Given the description of an element on the screen output the (x, y) to click on. 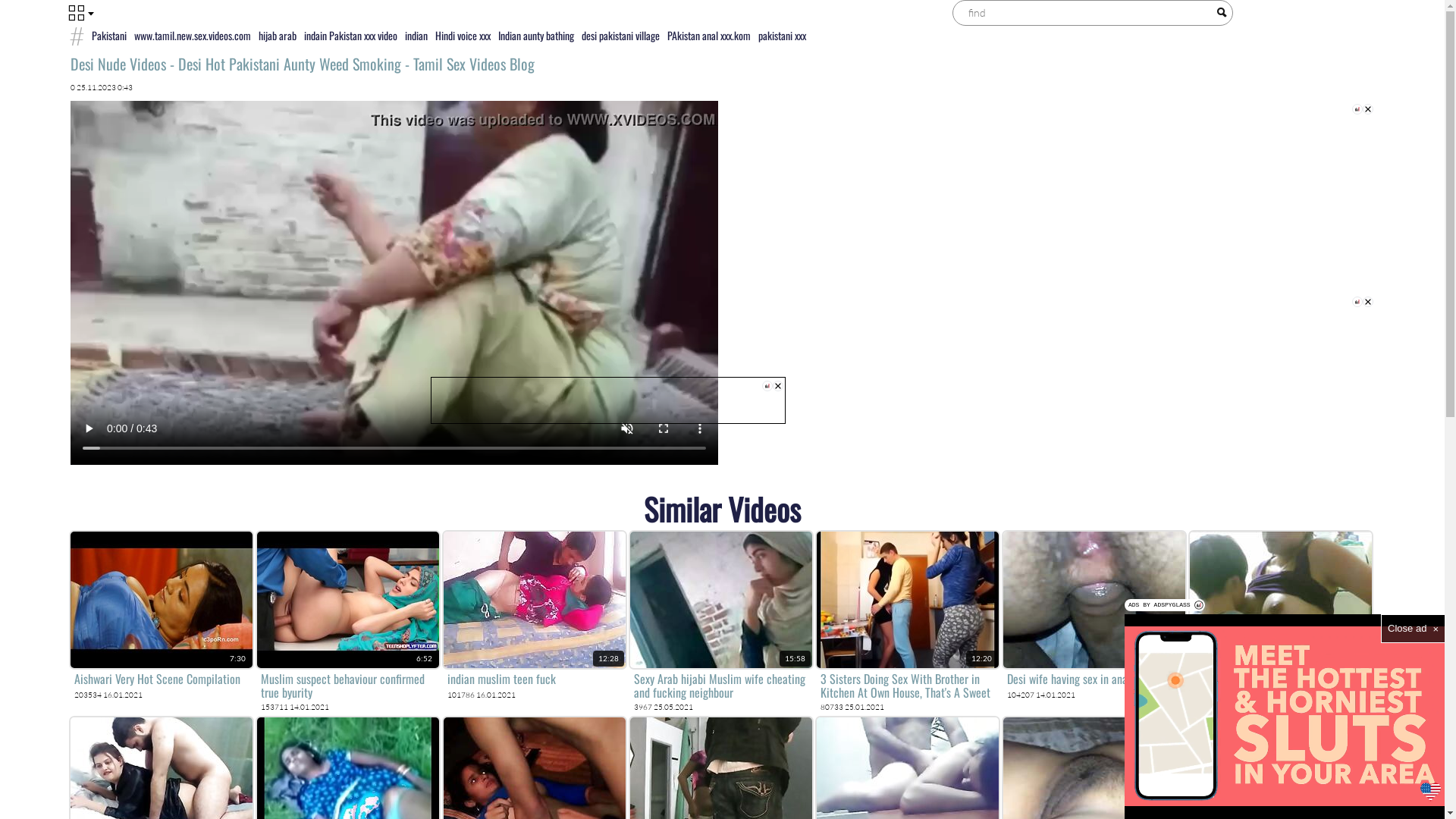
indain Pakistan xxx video Element type: text (350, 35)
ADS BY ADSPYGLASS Element type: text (1164, 605)
desi pakistani village Element type: text (620, 35)
hijab arab Element type: text (277, 35)
Hindi voice xxx Element type: text (461, 35)
www.tamil.new.sex.videos.com Element type: text (192, 35)
pakistani xxx Element type: text (781, 35)
Indian aunty bathing Element type: text (535, 35)
indian Element type: text (415, 35)
1:05
Desi wife having sex in anal position
104207 14.01.2021 Element type: text (1093, 615)
7:30
Aishwari Very Hot Scene Compilation
203534 16.01.2021 Element type: text (160, 615)
Pakistani Element type: text (108, 35)
12:28
indian muslim teen fuck
101786 16.01.2021 Element type: text (533, 615)
PAkistan anal xxx.kom Element type: text (707, 35)
